Given the description of an element on the screen output the (x, y) to click on. 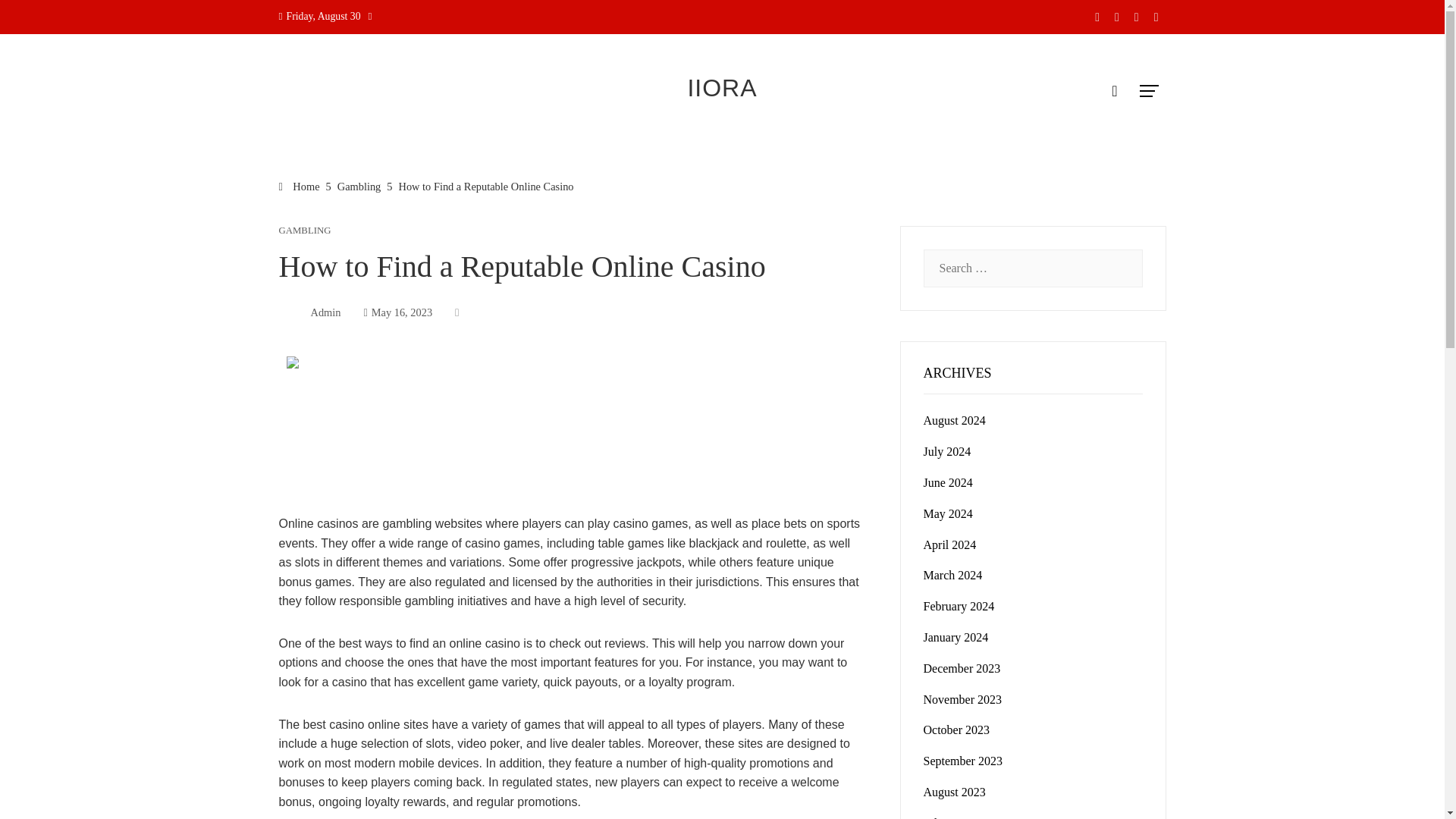
June 2024 (947, 481)
August 2024 (954, 420)
Gambling (359, 186)
December 2023 (962, 667)
Home (299, 186)
August 2023 (954, 791)
GAMBLING (305, 230)
July 2024 (947, 451)
November 2023 (963, 698)
February 2024 (958, 605)
